Given the description of an element on the screen output the (x, y) to click on. 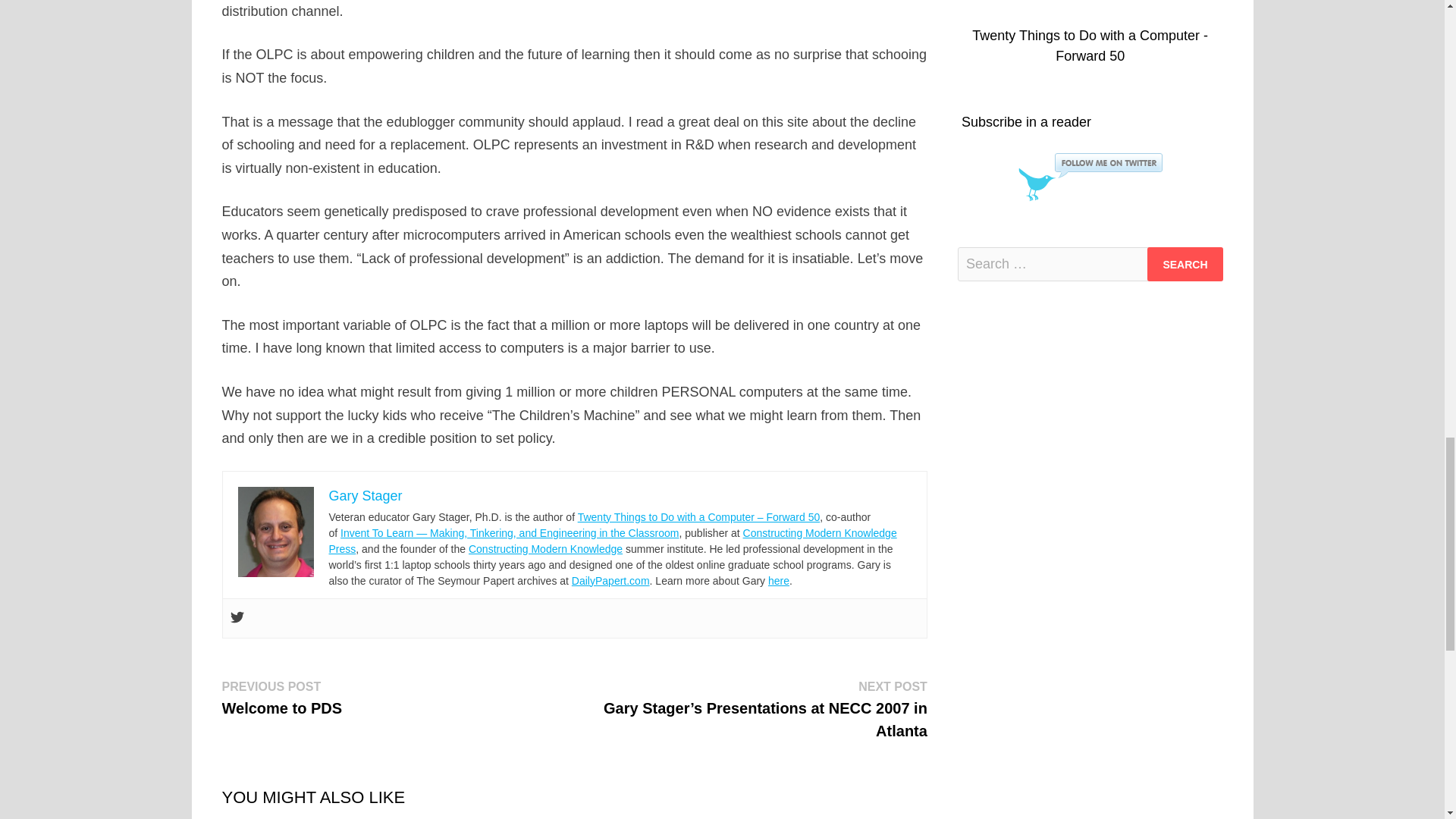
here (778, 580)
Constructing Modern Knowledge Press (612, 541)
Search (1185, 264)
DailyPapert.com (610, 580)
Search (1185, 264)
Daily Papert (610, 580)
Constructing Modern Knowledge (545, 548)
Gary Stager (281, 697)
